Given the description of an element on the screen output the (x, y) to click on. 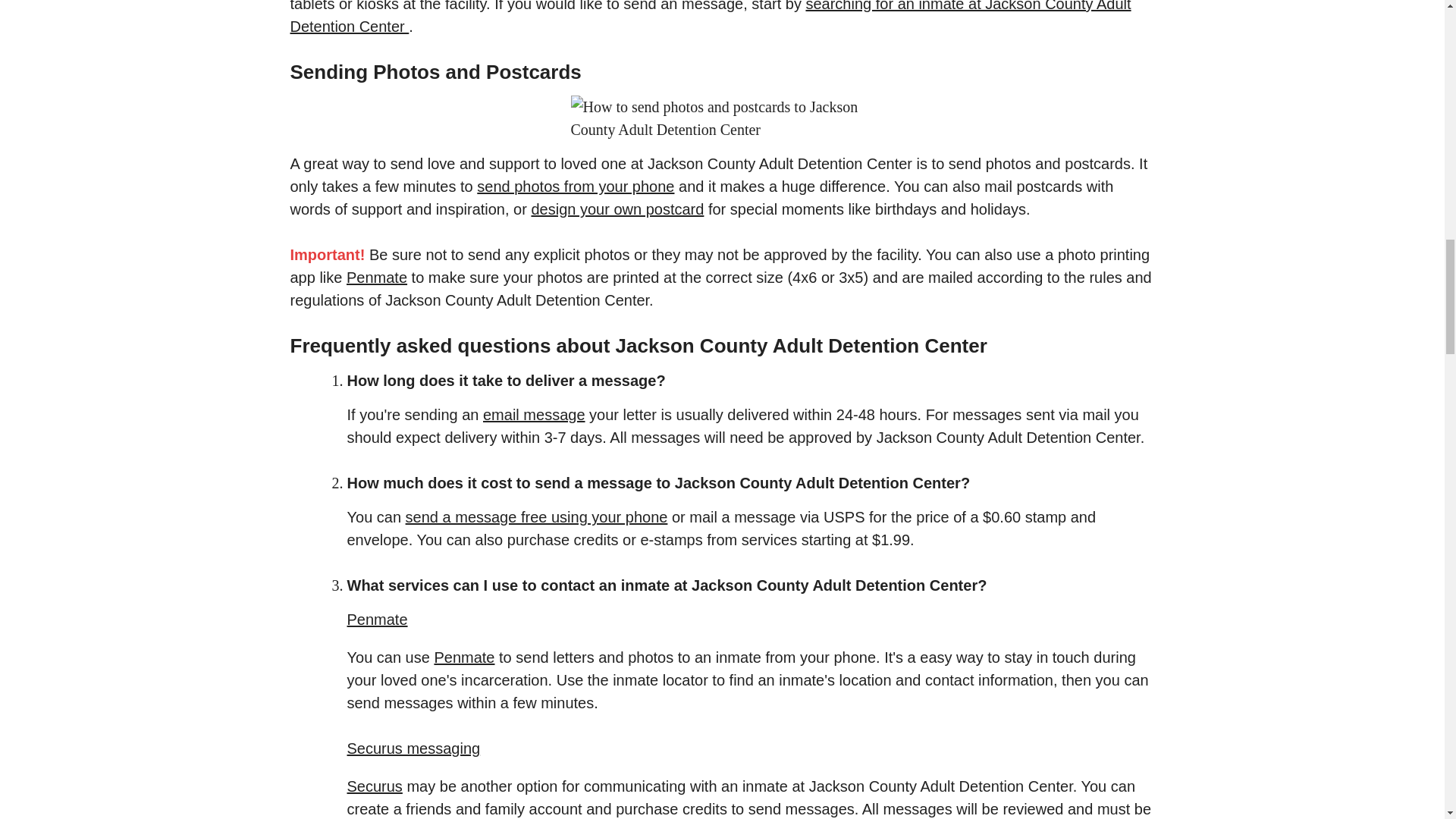
Securus (375, 786)
email message (534, 414)
send a message free using your phone (537, 516)
send photos from your phone (575, 186)
Penmate (464, 657)
Penmate (376, 277)
design your own postcard (617, 208)
